Given the description of an element on the screen output the (x, y) to click on. 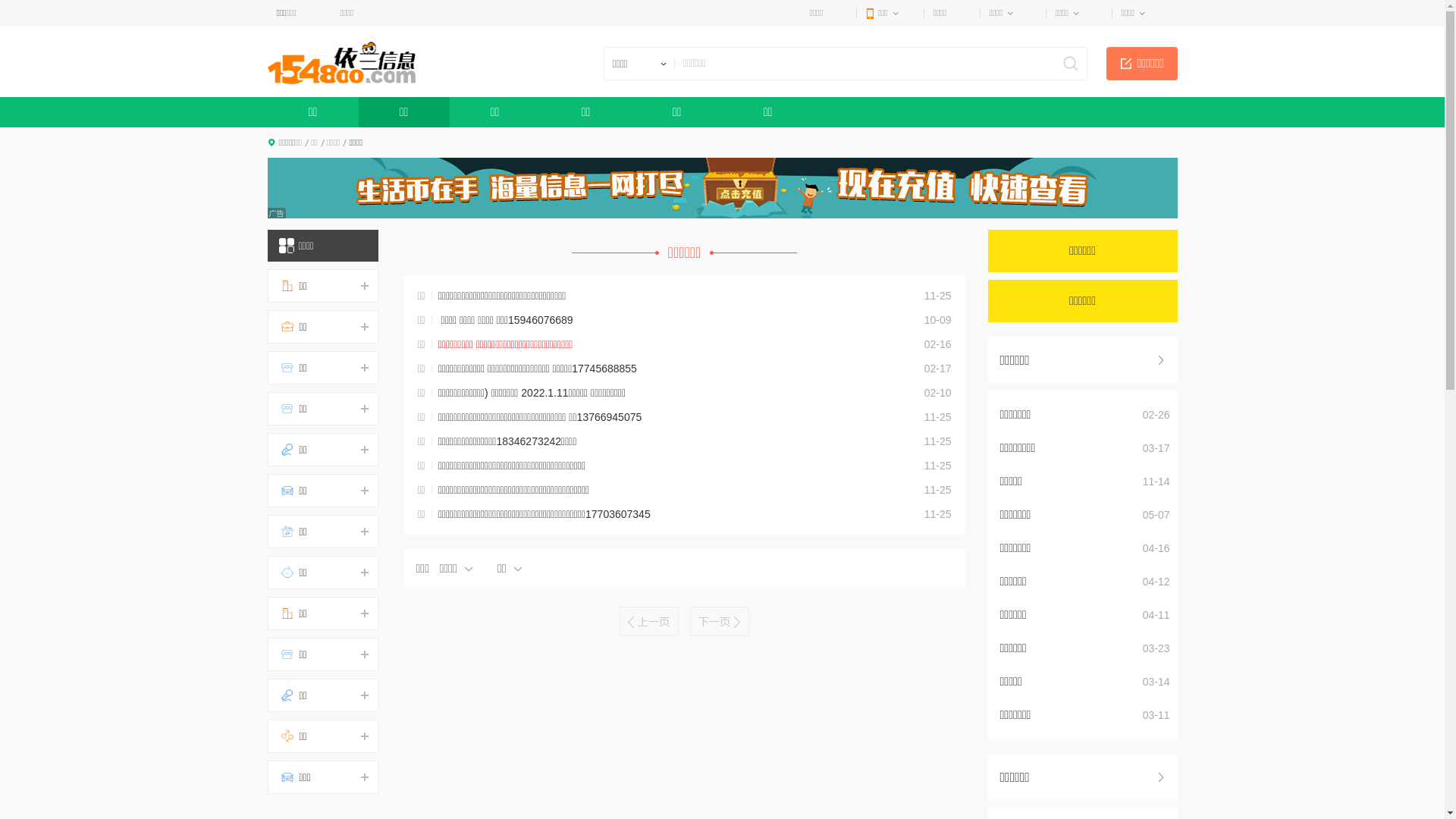
  Element type: text (1161, 358)
  Element type: text (1161, 775)
